Given the description of an element on the screen output the (x, y) to click on. 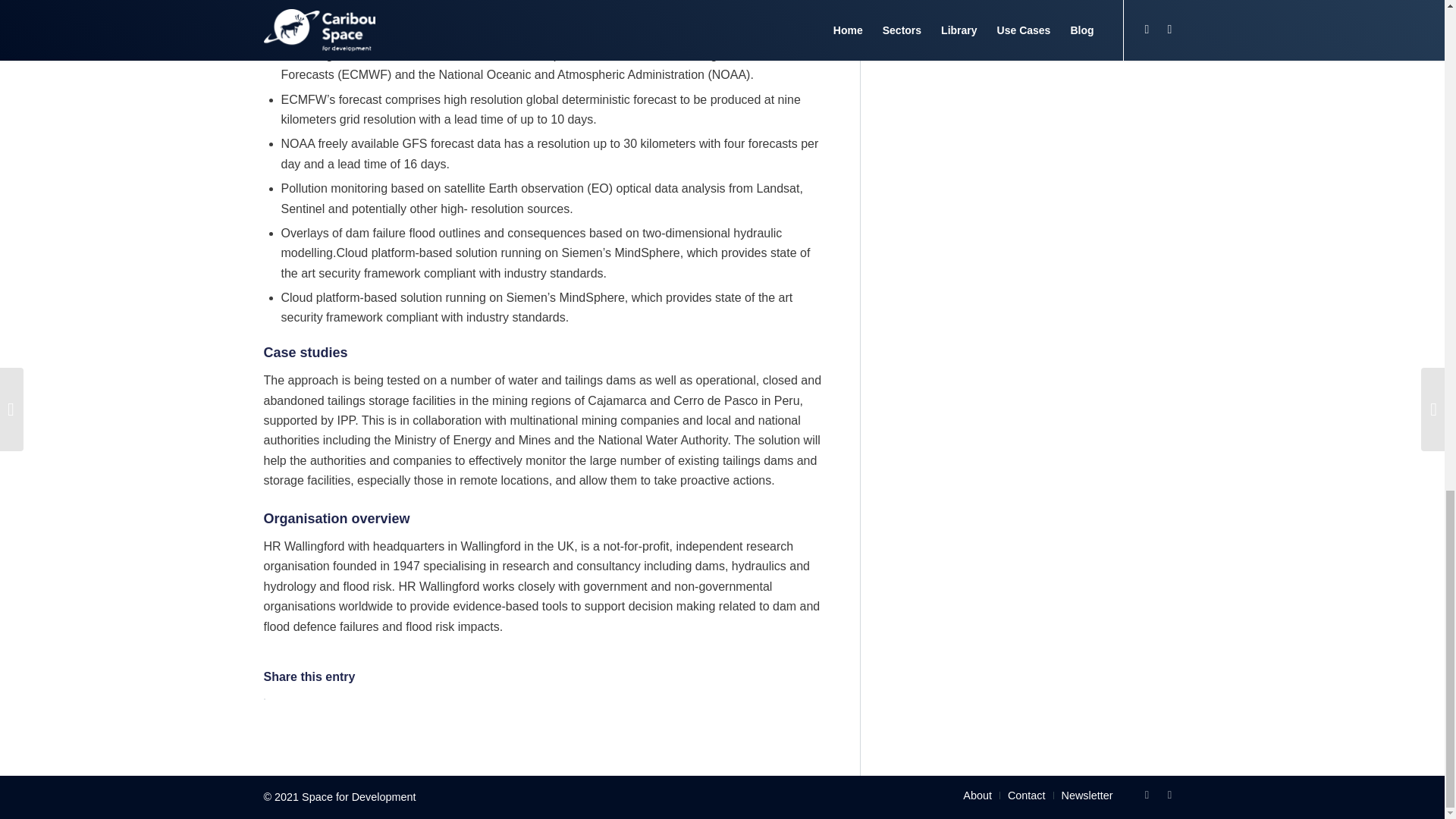
Newsletter (1087, 795)
About (976, 795)
Twitter (1146, 793)
Contact (1026, 795)
LinkedIn (1169, 793)
